Given the description of an element on the screen output the (x, y) to click on. 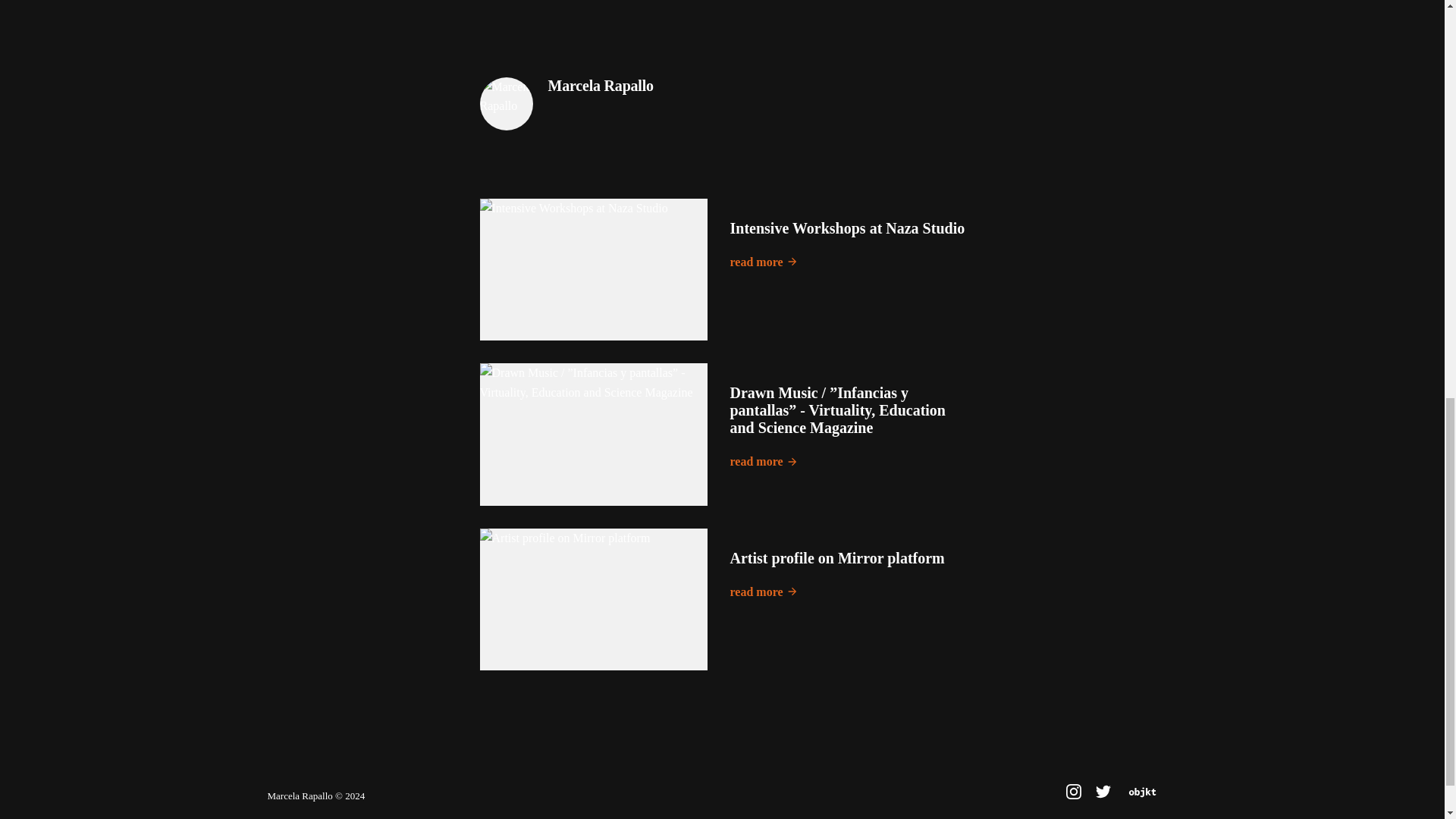
Twitter (1103, 791)
Marcela Rapallo (599, 85)
Twitter (1104, 795)
Instagram (1074, 795)
Artist profile on Mirror platform (836, 557)
read more (763, 461)
Intensive Workshops at Naza Studio (846, 228)
read more (763, 591)
Instagram (1073, 791)
read more (763, 261)
